Given the description of an element on the screen output the (x, y) to click on. 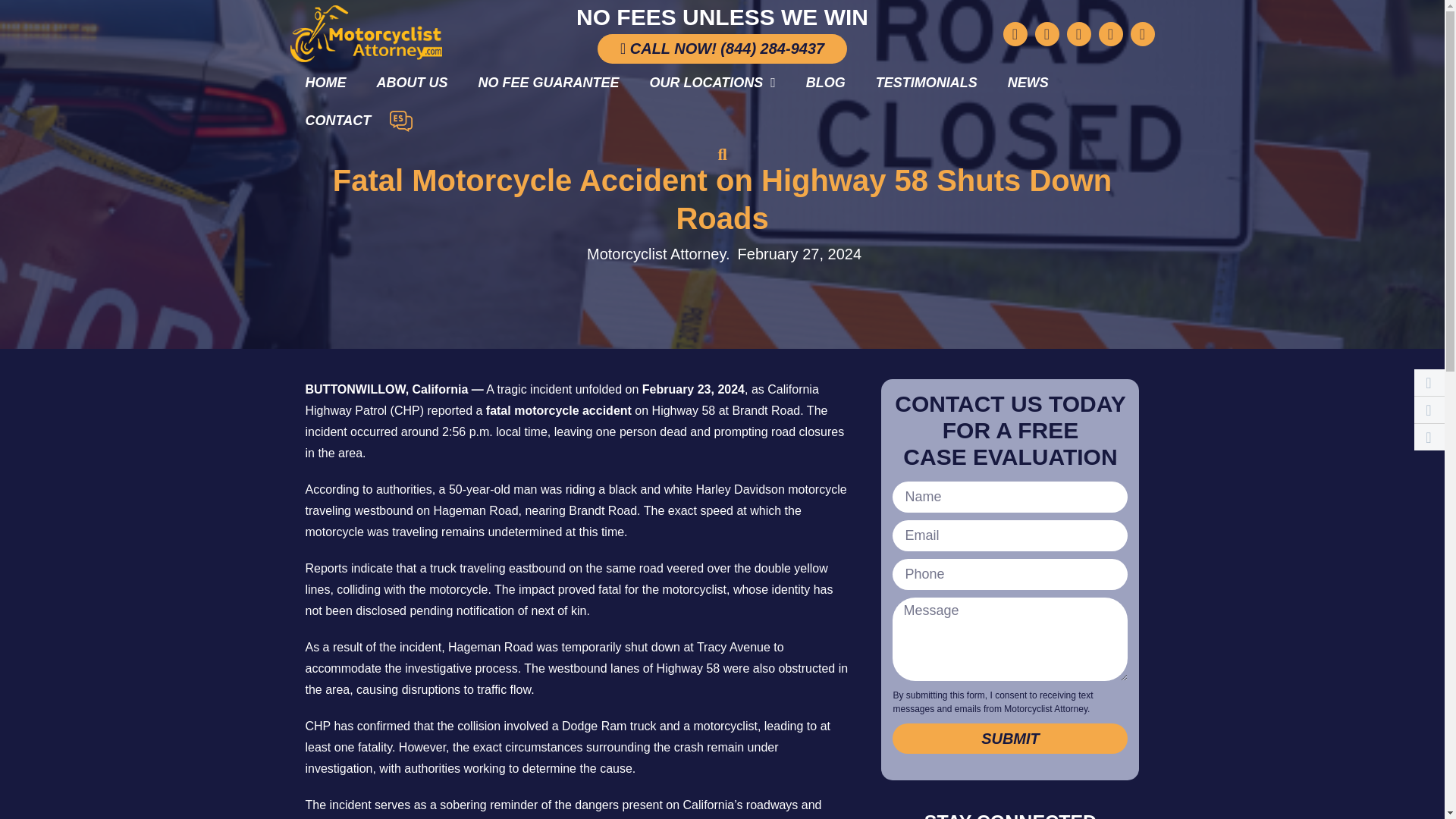
ABOUT US (412, 82)
OUR LOCATIONS (712, 82)
NEWS (1028, 82)
BLOG (825, 82)
HOME (325, 82)
CONTACT (337, 120)
NO FEE GUARANTEE (548, 82)
TESTIMONIALS (926, 82)
